Given the description of an element on the screen output the (x, y) to click on. 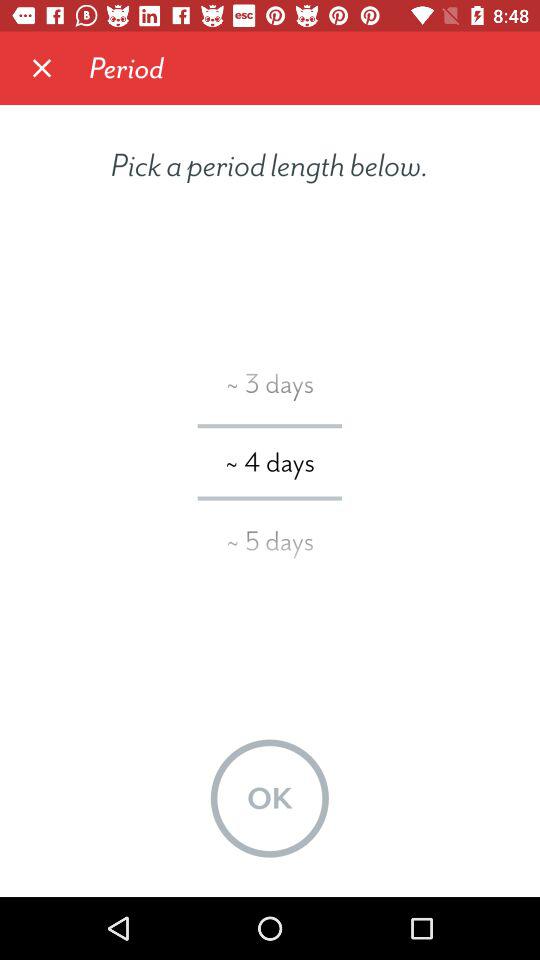
leave selected option (42, 68)
